Given the description of an element on the screen output the (x, y) to click on. 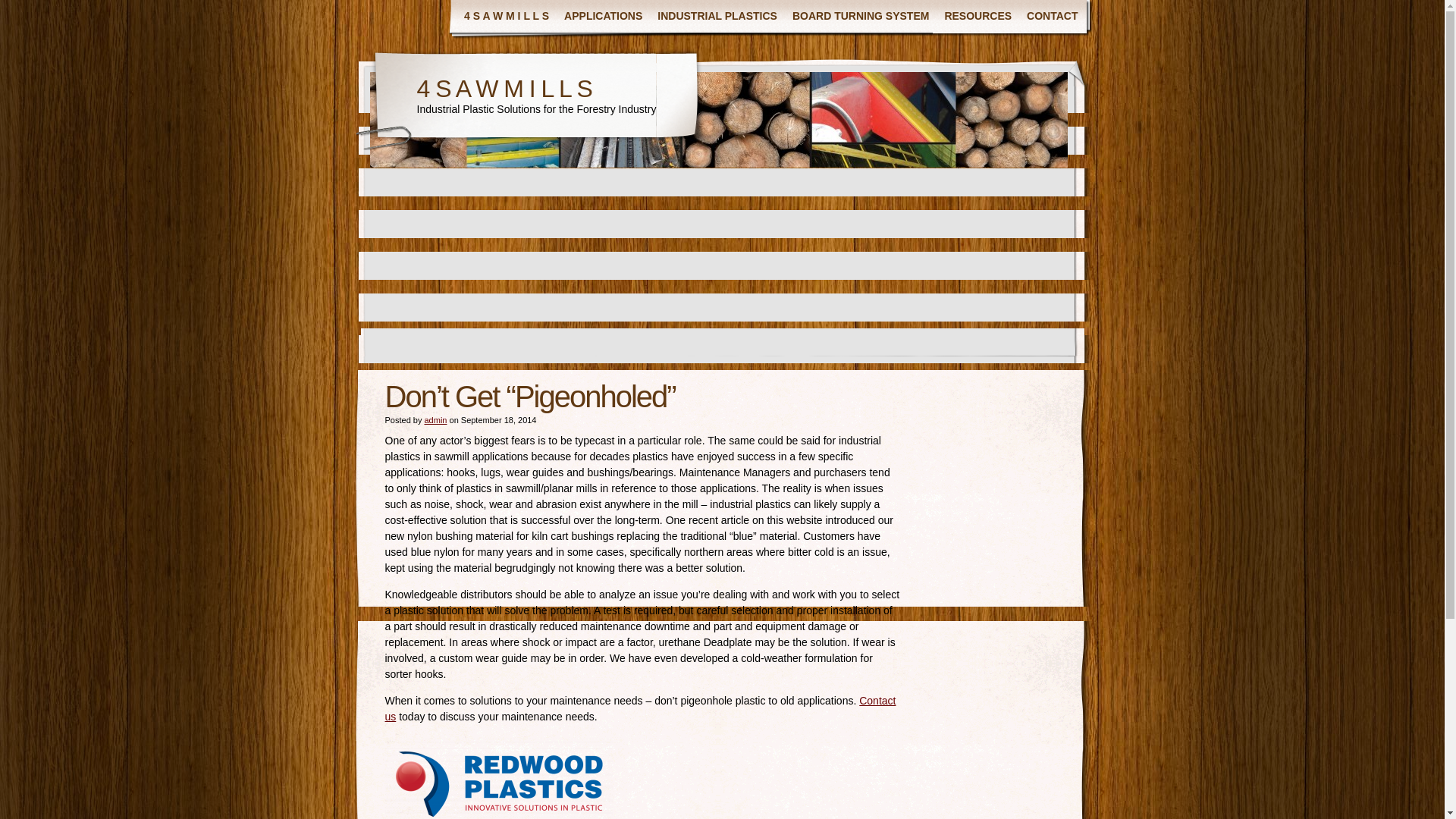
APPLICATIONS (602, 16)
4 S A W M I L L S (504, 87)
4 S A W M I L L S (506, 16)
BOARD TURNING SYSTEM (860, 16)
Contact Redwood Plastics (640, 708)
RESOURCES (977, 16)
Posts by admin (434, 420)
CONTACT (1051, 16)
Contact us (640, 708)
INDUSTRIAL PLASTICS (716, 16)
